Given the description of an element on the screen output the (x, y) to click on. 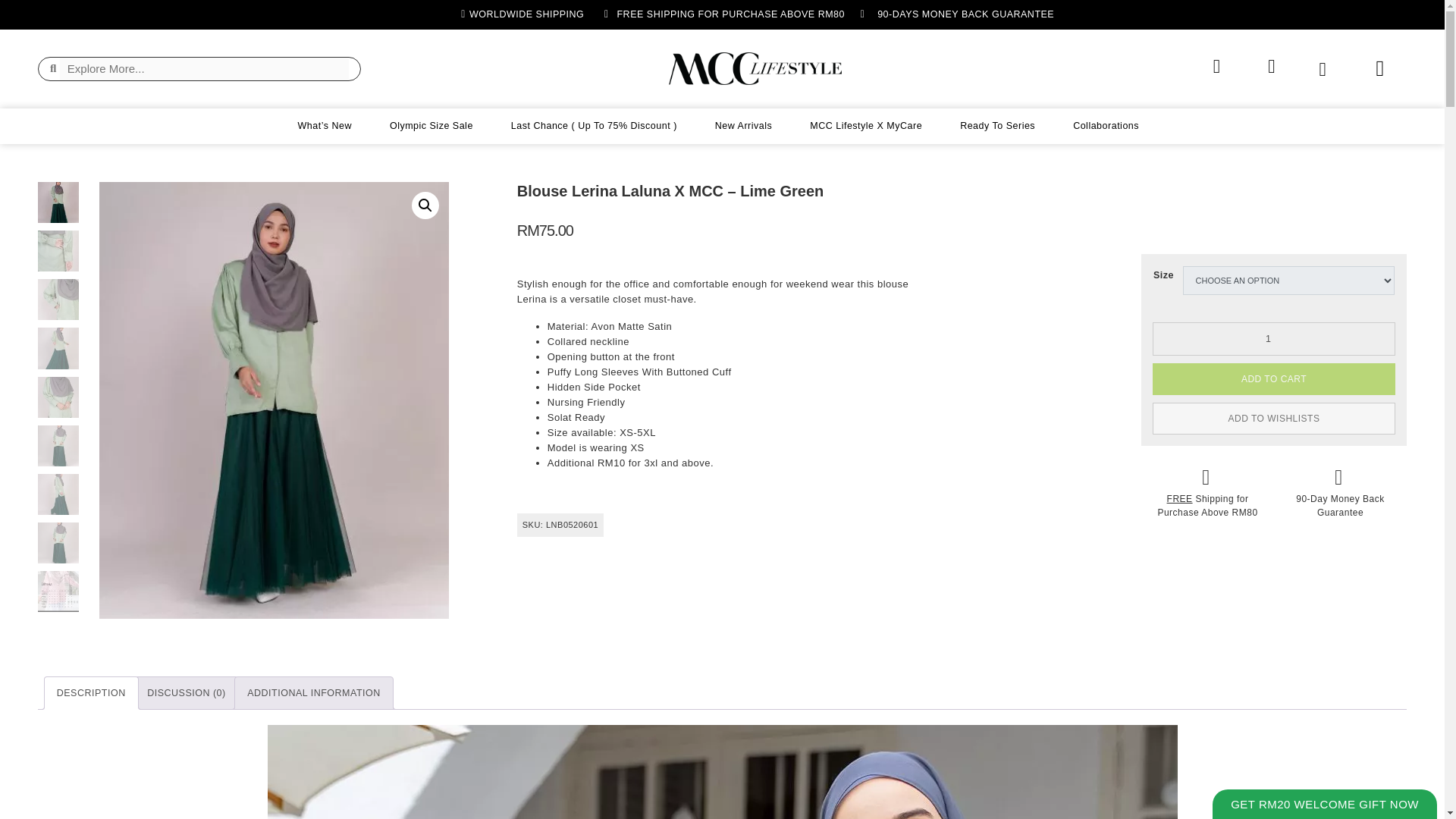
1 (1273, 338)
